Given the description of an element on the screen output the (x, y) to click on. 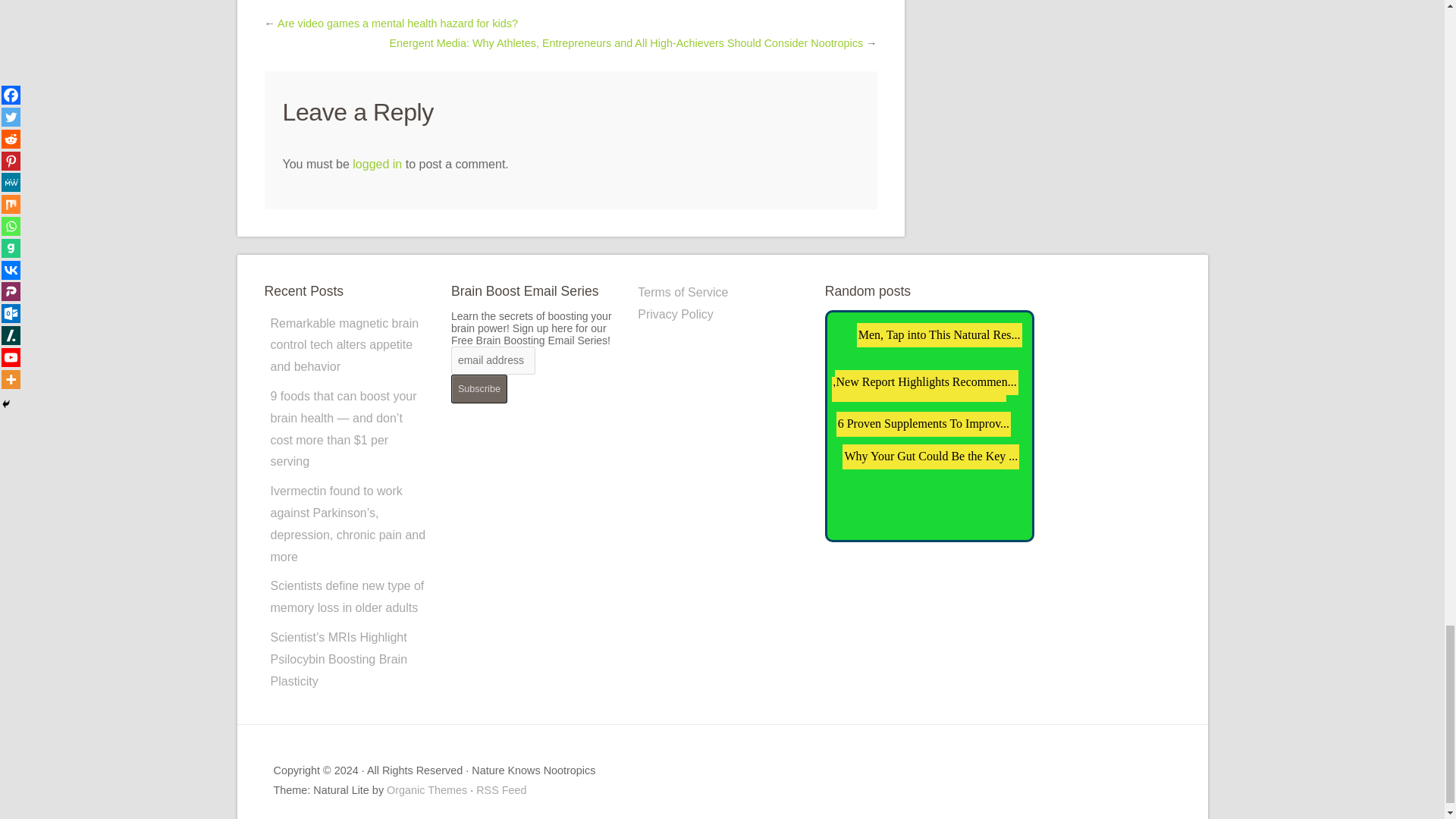
Subscribe (478, 388)
